Given the description of an element on the screen output the (x, y) to click on. 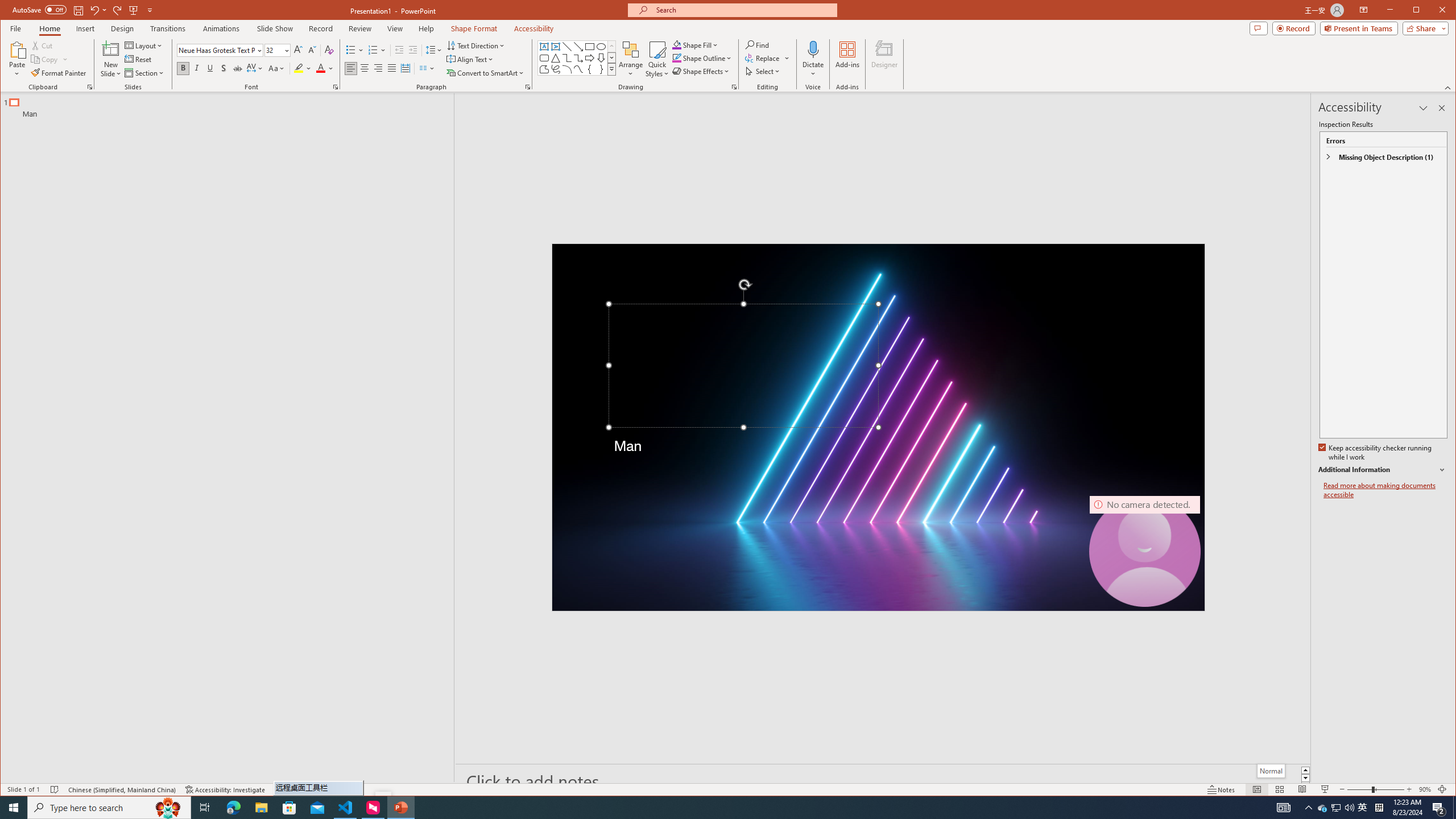
Camera 7, No camera detected. (1145, 550)
Action Center, 2 new notifications (1439, 807)
AutomationID: ShapesInsertGallery (577, 57)
Rectangle: Rounded Corners (544, 57)
Columns (426, 68)
Isosceles Triangle (556, 57)
